Given the description of an element on the screen output the (x, y) to click on. 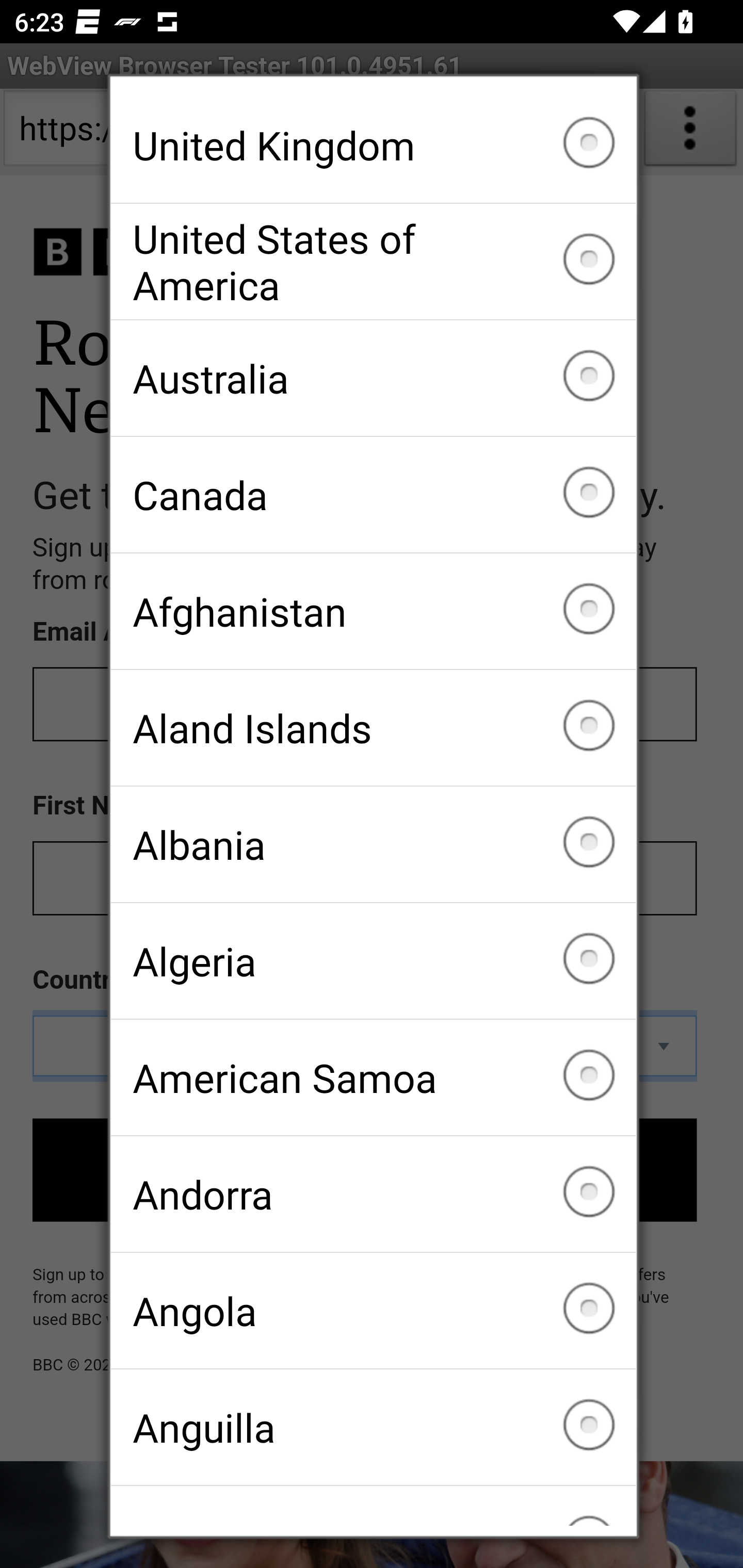
United Kingdom (373, 144)
United States of America (373, 261)
Australia (373, 377)
Canada (373, 494)
Afghanistan (373, 611)
Aland Islands (373, 727)
Albania (373, 844)
Algeria (373, 961)
American Samoa (373, 1077)
Andorra (373, 1193)
Angola (373, 1310)
Anguilla (373, 1426)
